Given the description of an element on the screen output the (x, y) to click on. 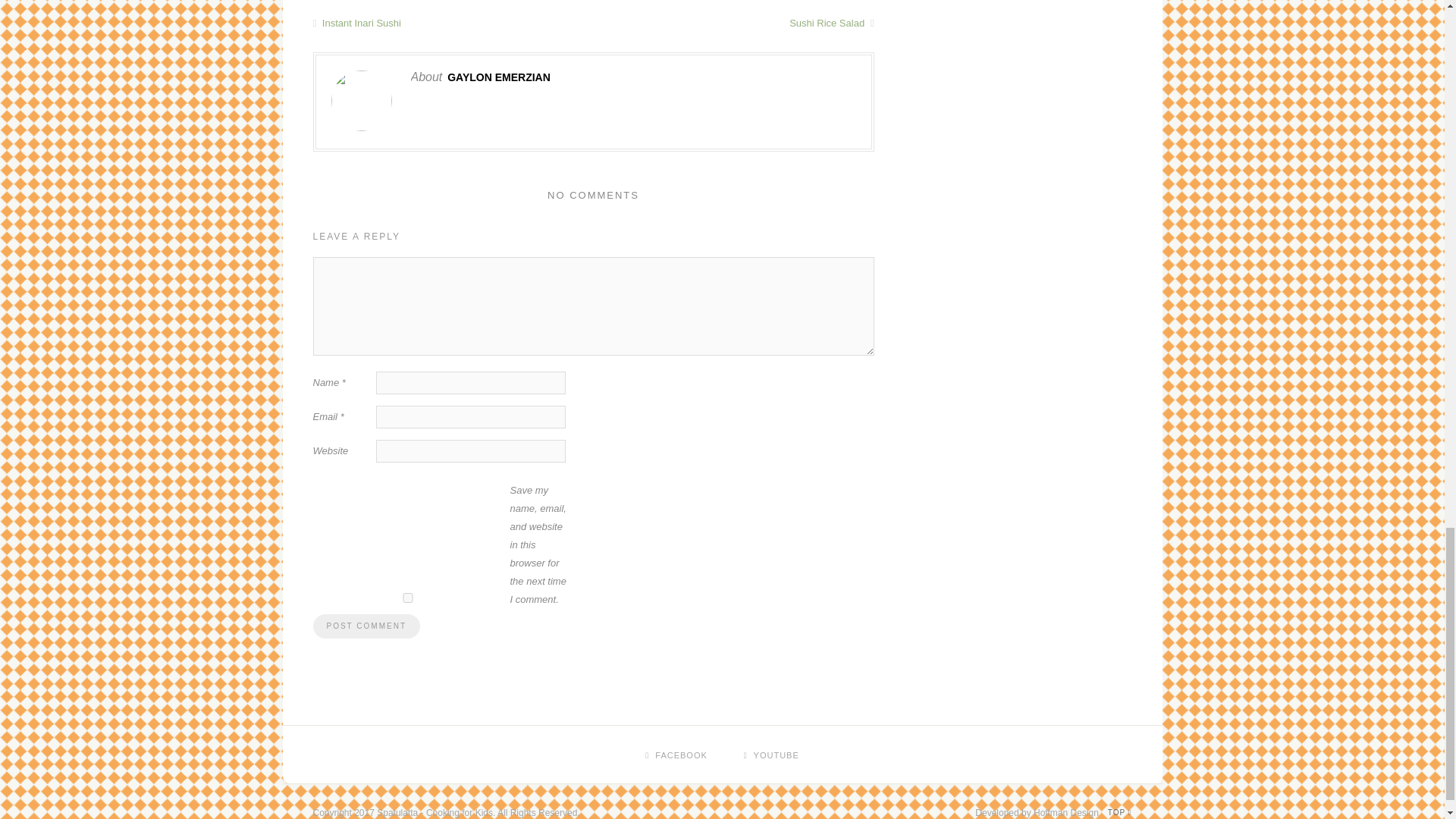
Instant Inari Sushi (452, 22)
Posts by Gaylon Emerzian (498, 77)
Post Comment (366, 626)
yes (407, 597)
